Given the description of an element on the screen output the (x, y) to click on. 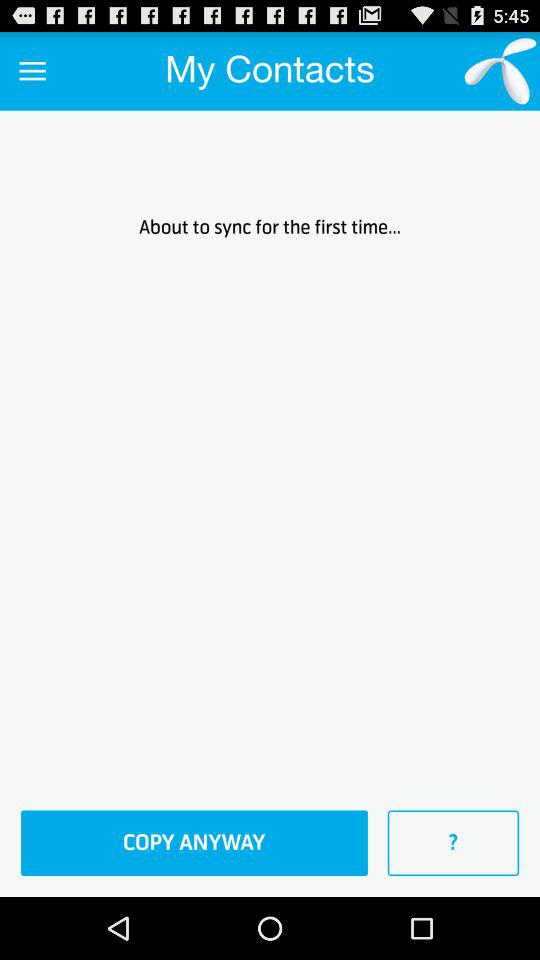
scroll to copy anyway icon (194, 843)
